Given the description of an element on the screen output the (x, y) to click on. 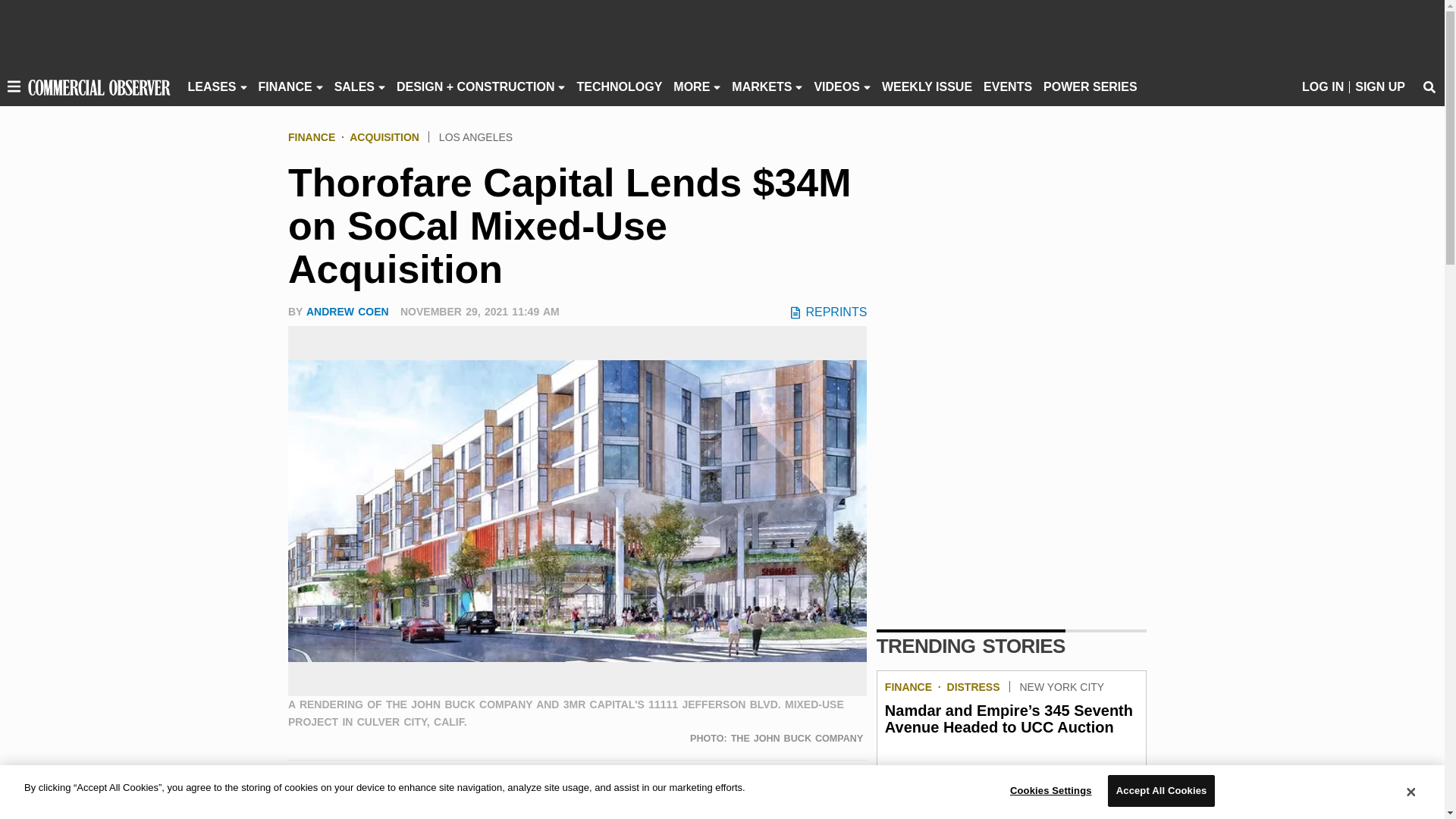
SALES (354, 86)
Share on LinkedIn (362, 789)
LEASES (211, 86)
Send email (392, 789)
MORE (691, 86)
FINANCE (286, 86)
Posts by Andrew Coen (346, 311)
Tweet (332, 789)
Share on Facebook (301, 789)
Commercial Observer Home (98, 86)
TECHNOLOGY (619, 86)
